Given the description of an element on the screen output the (x, y) to click on. 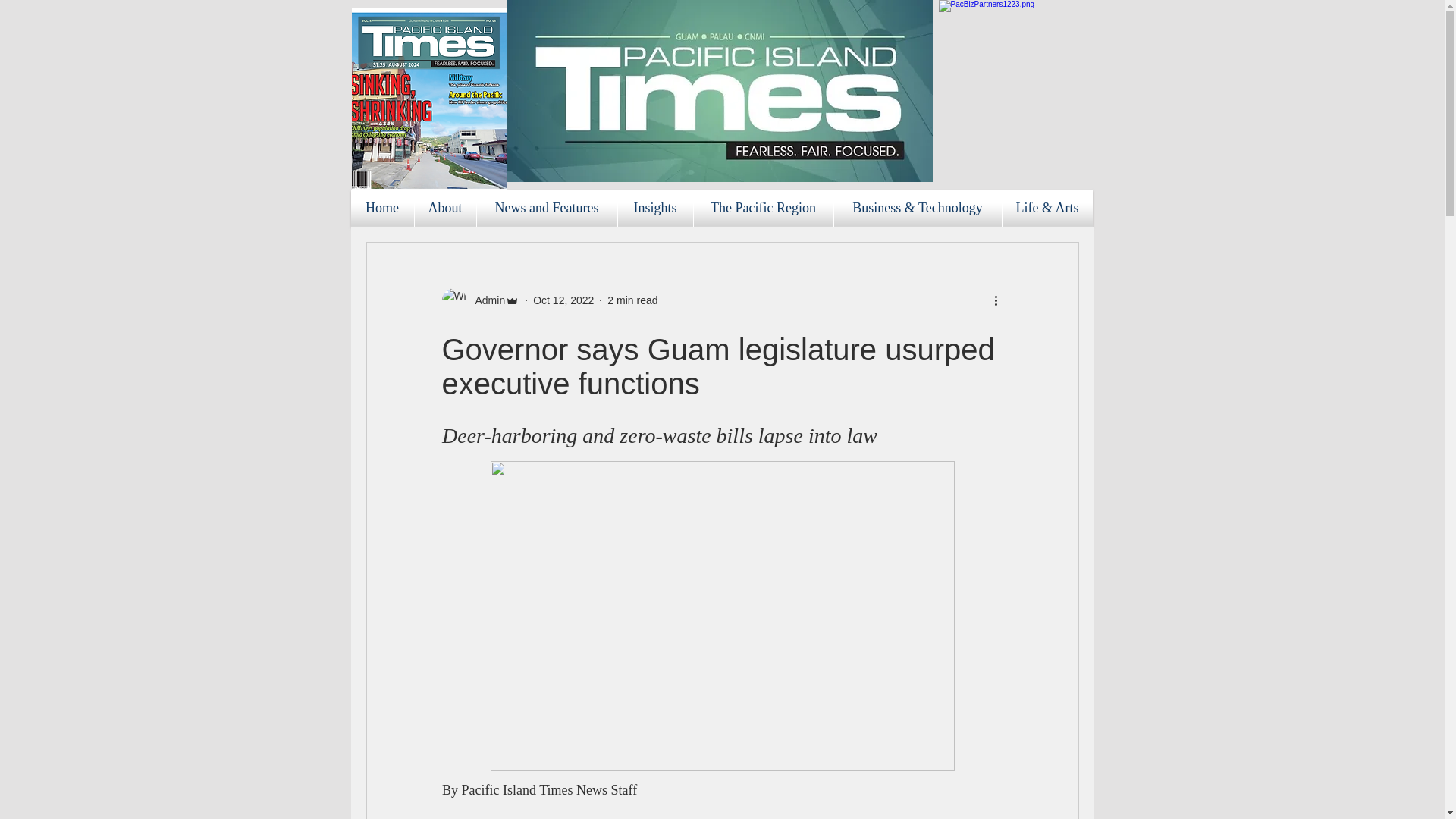
Home (381, 207)
Insights (655, 207)
The Pacific Region (762, 207)
News and Features (545, 207)
2 min read (632, 300)
Oct 12, 2022 (563, 300)
About (444, 207)
Admin (485, 300)
